Given the description of an element on the screen output the (x, y) to click on. 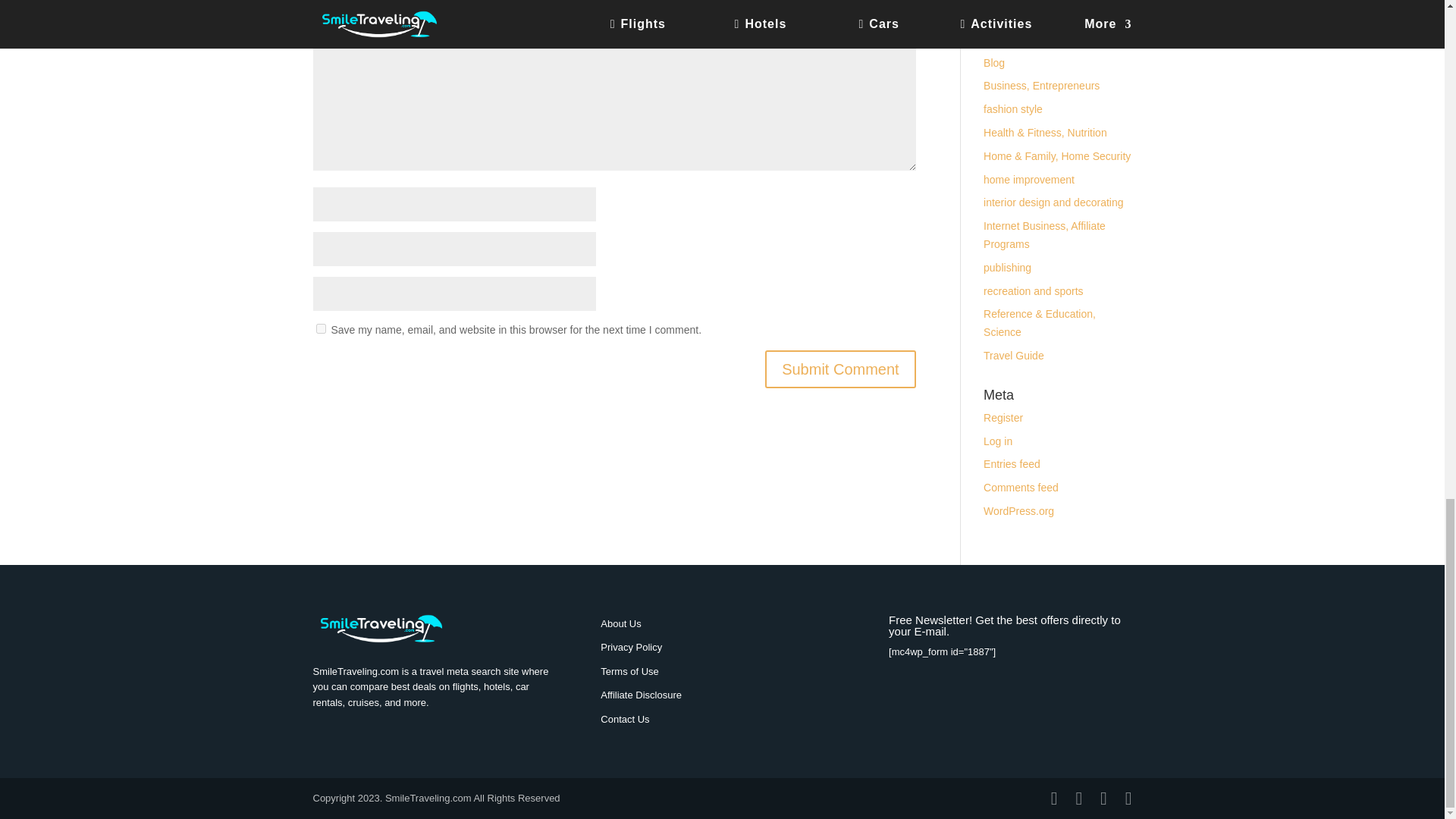
yes (319, 328)
Submit Comment (840, 369)
Submit Comment (840, 369)
